Given the description of an element on the screen output the (x, y) to click on. 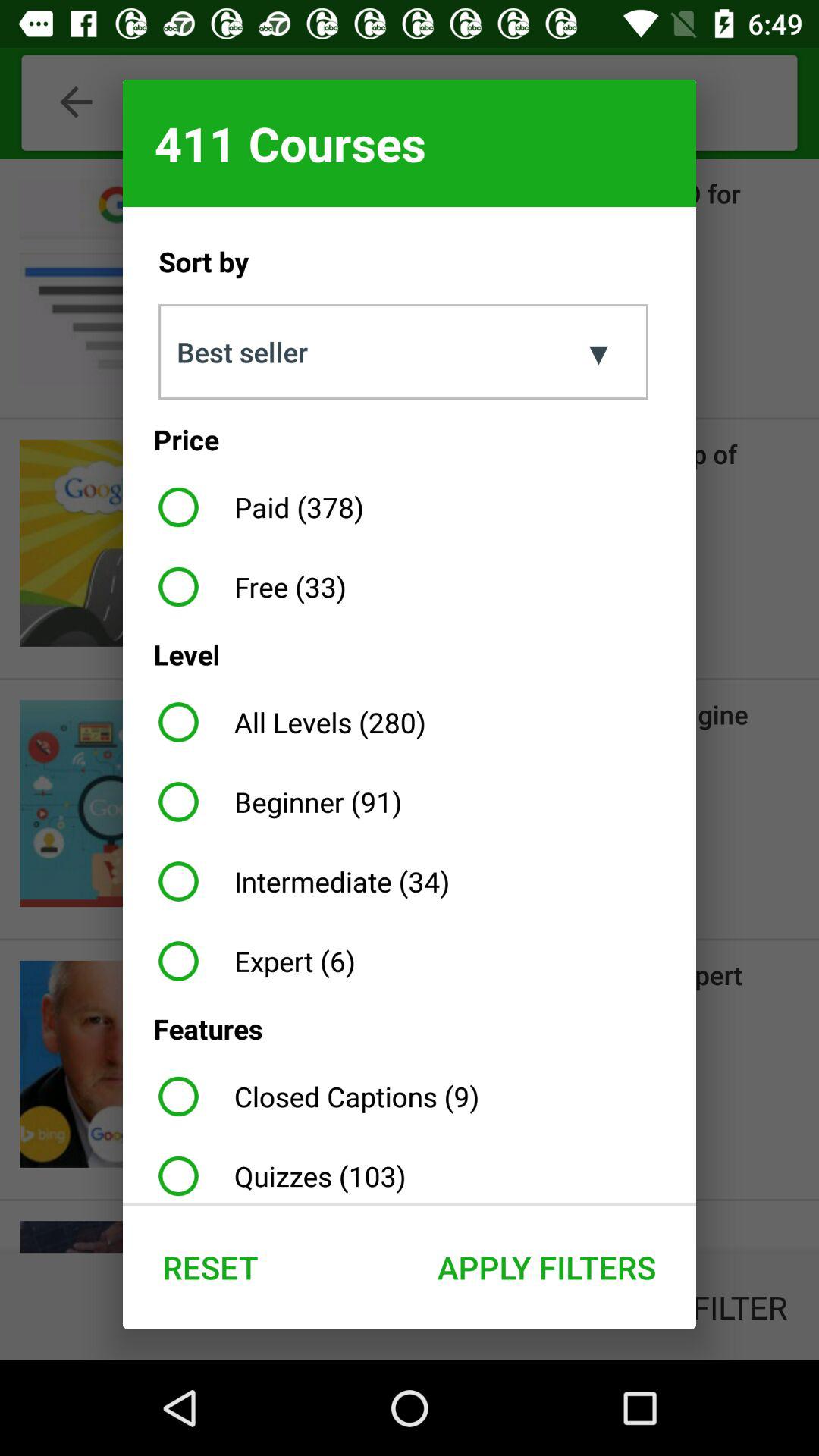
press the app above the level item (246, 586)
